Given the description of an element on the screen output the (x, y) to click on. 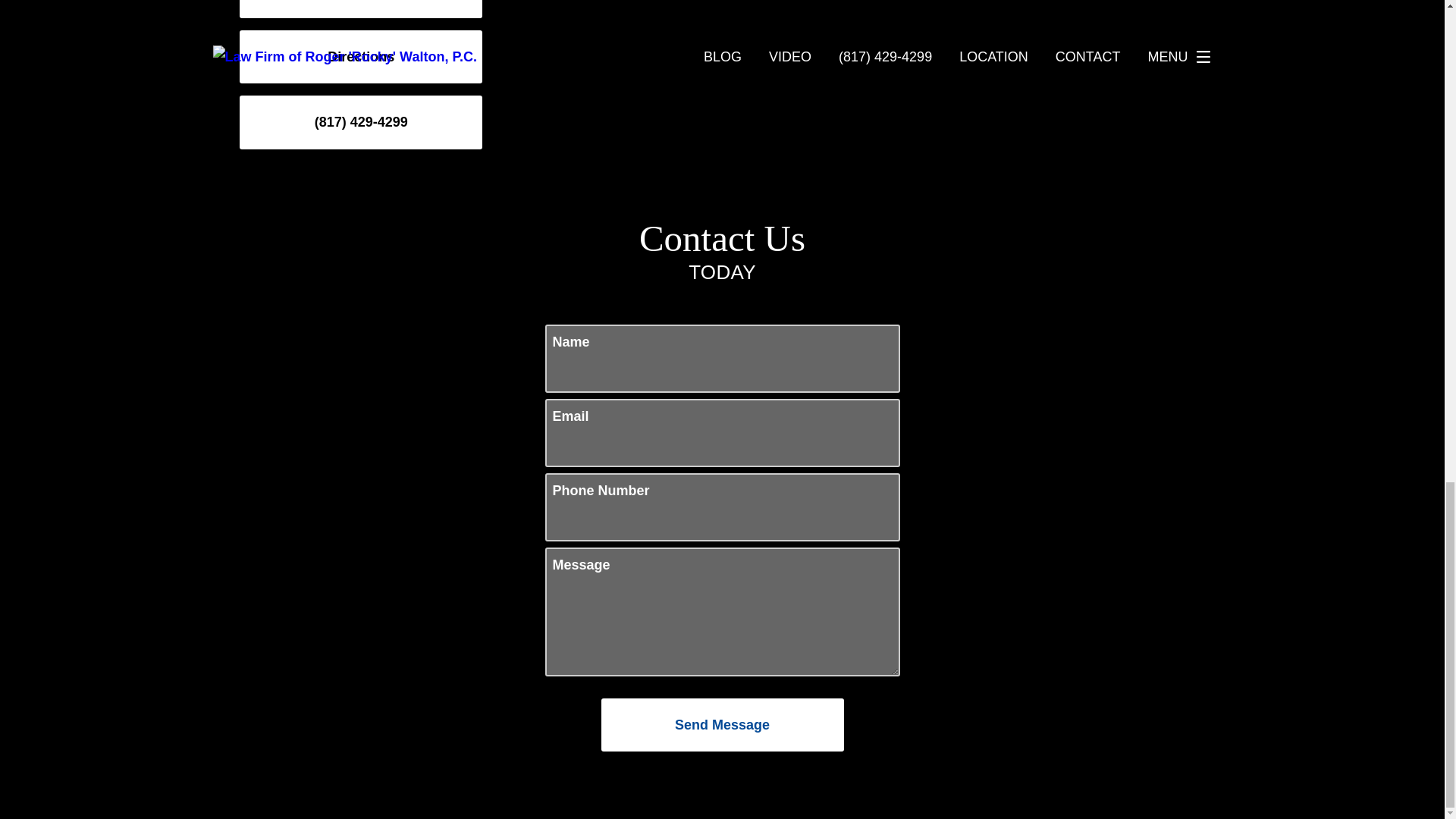
Directions (360, 56)
Send Message (721, 724)
About Our Office (360, 8)
